Given the description of an element on the screen output the (x, y) to click on. 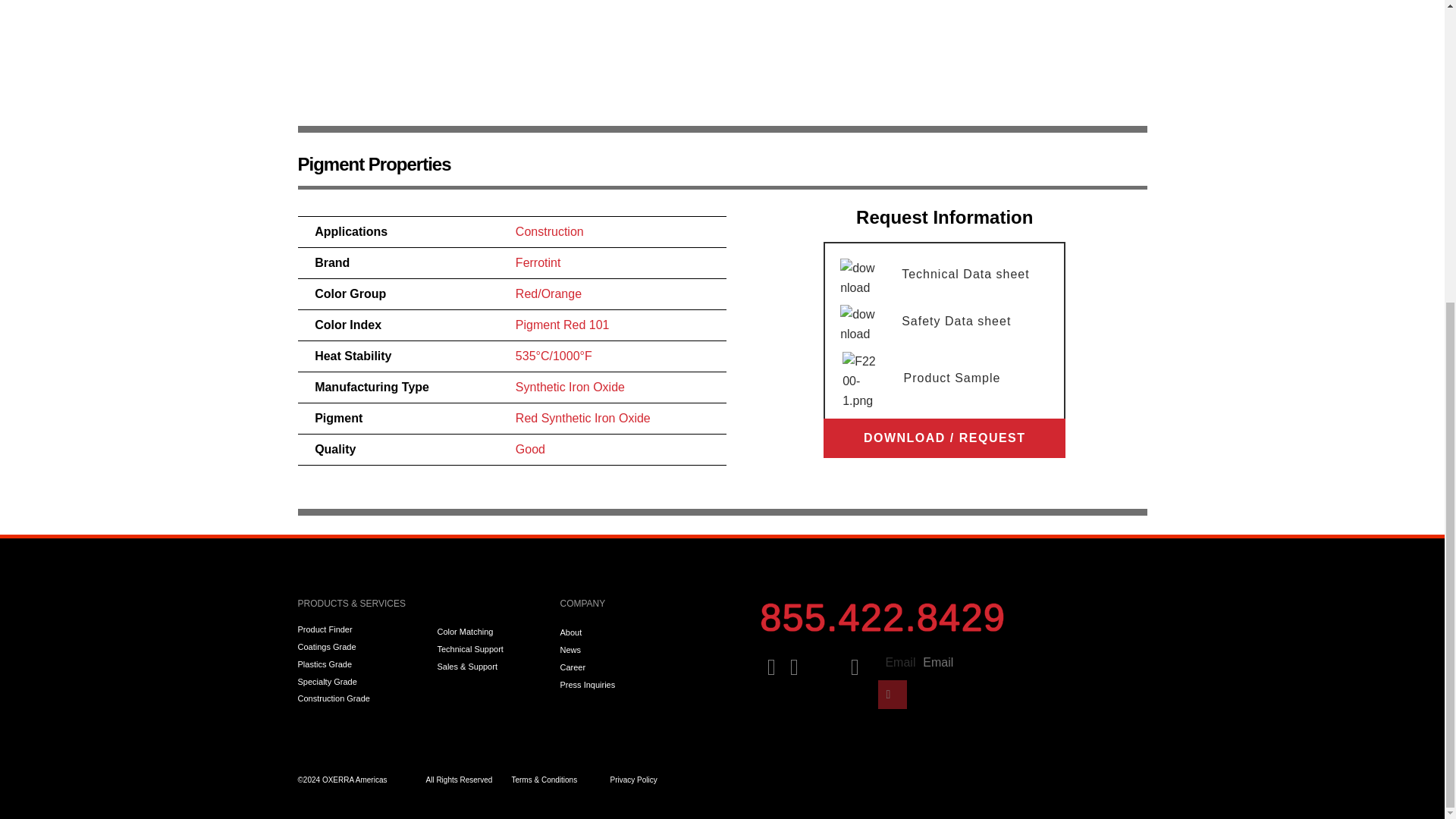
News (651, 650)
Pigment Red 101 (562, 324)
download (859, 323)
Red Synthetic Iron Oxide (582, 418)
Career (651, 667)
Plastics Grade (359, 664)
Technical Support (490, 649)
Specialty Grade (359, 682)
Construction Grade (359, 698)
download (859, 278)
Synthetic Iron Oxide (569, 386)
Color Matching (490, 632)
About (651, 632)
Coatings Grade (359, 647)
Ferrotint (537, 262)
